Given the description of an element on the screen output the (x, y) to click on. 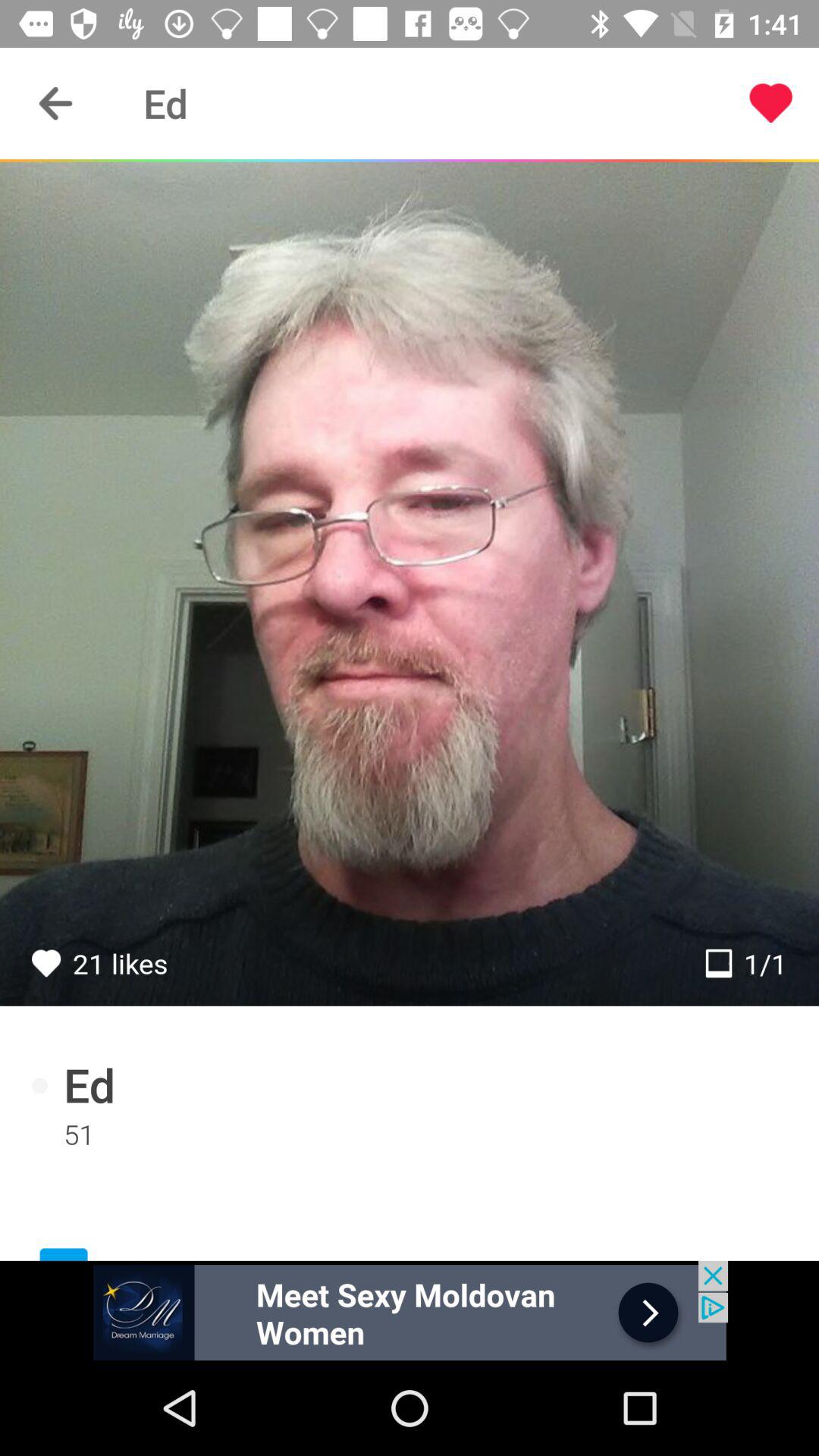
go back (55, 103)
